Given the description of an element on the screen output the (x, y) to click on. 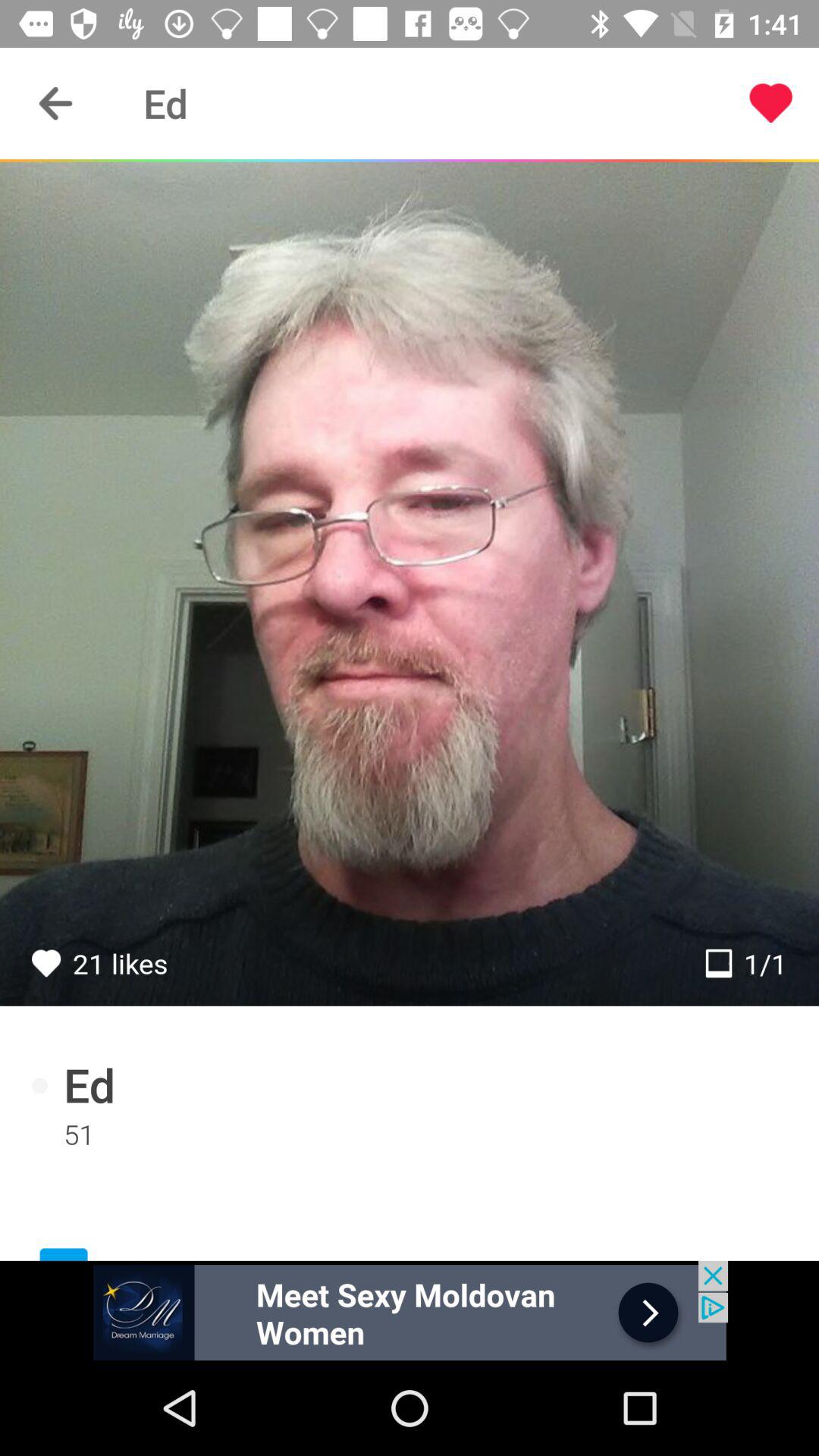
go back (55, 103)
